Given the description of an element on the screen output the (x, y) to click on. 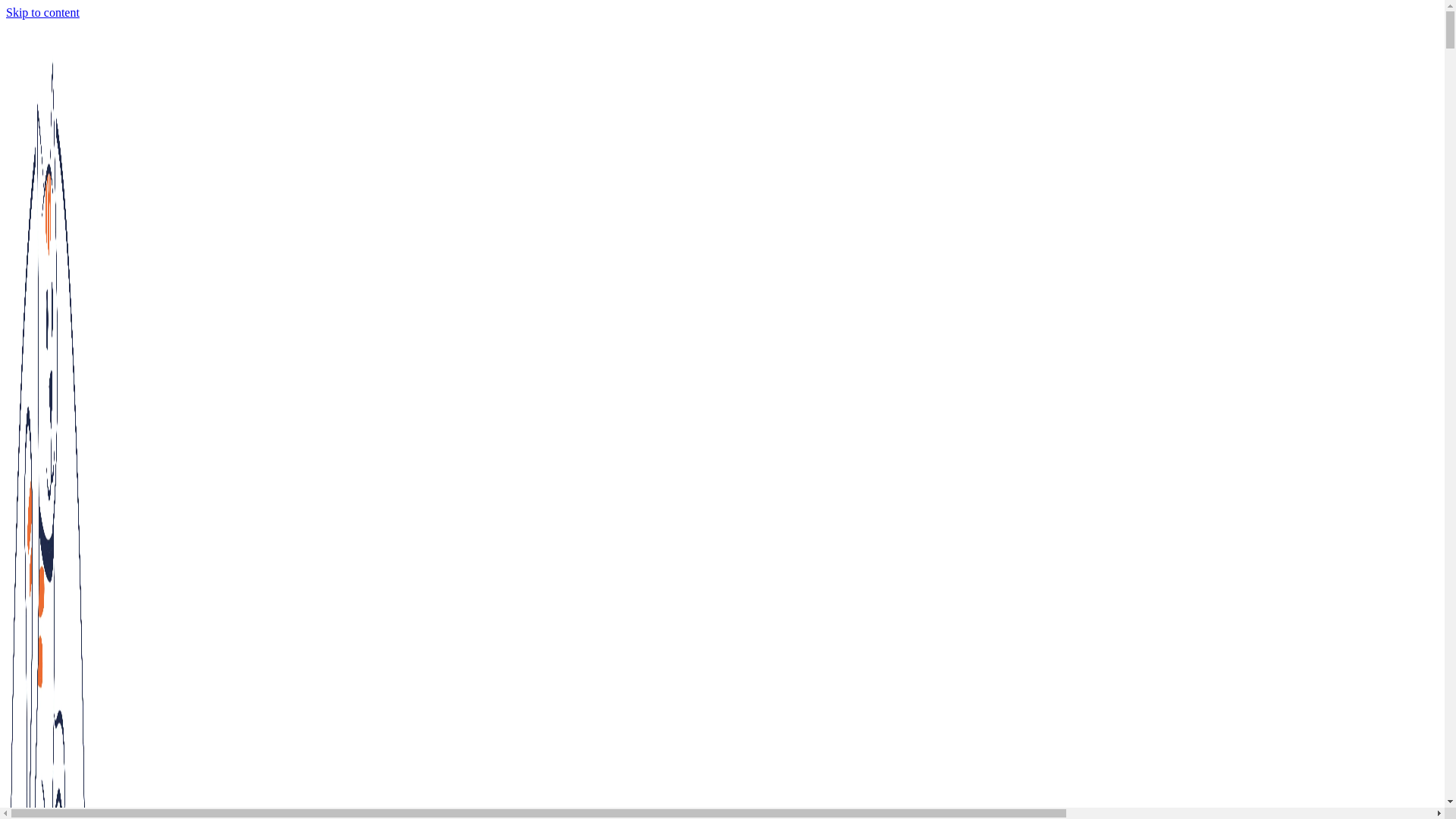
Skip to content Element type: text (42, 12)
